Given the description of an element on the screen output the (x, y) to click on. 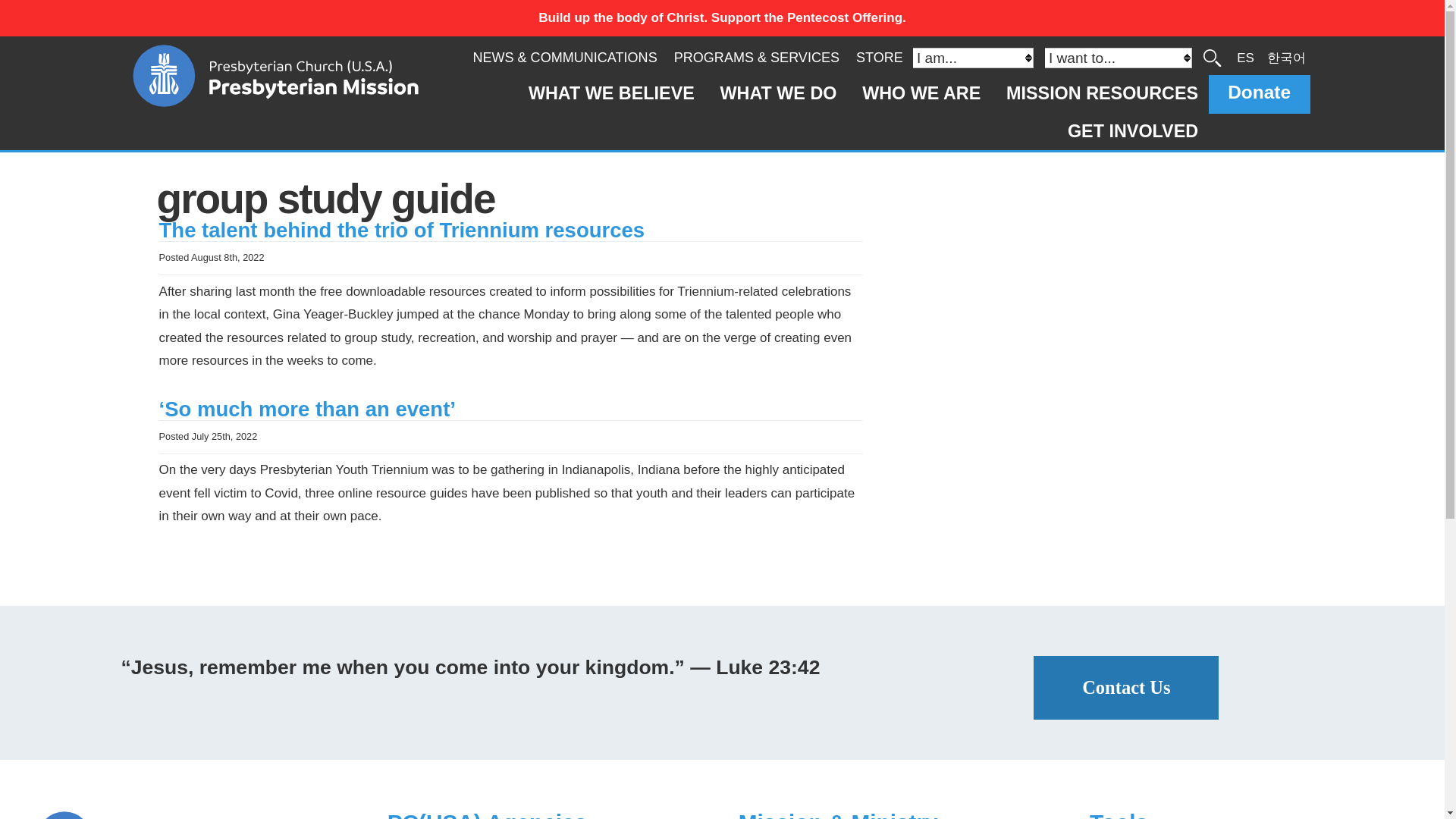
Build up the body of Christ. Support the Pentecost Offering. (721, 17)
Follow Us on Social Media (195, 815)
The talent behind the trio of Triennium resources (401, 229)
STORE (879, 57)
